Given the description of an element on the screen output the (x, y) to click on. 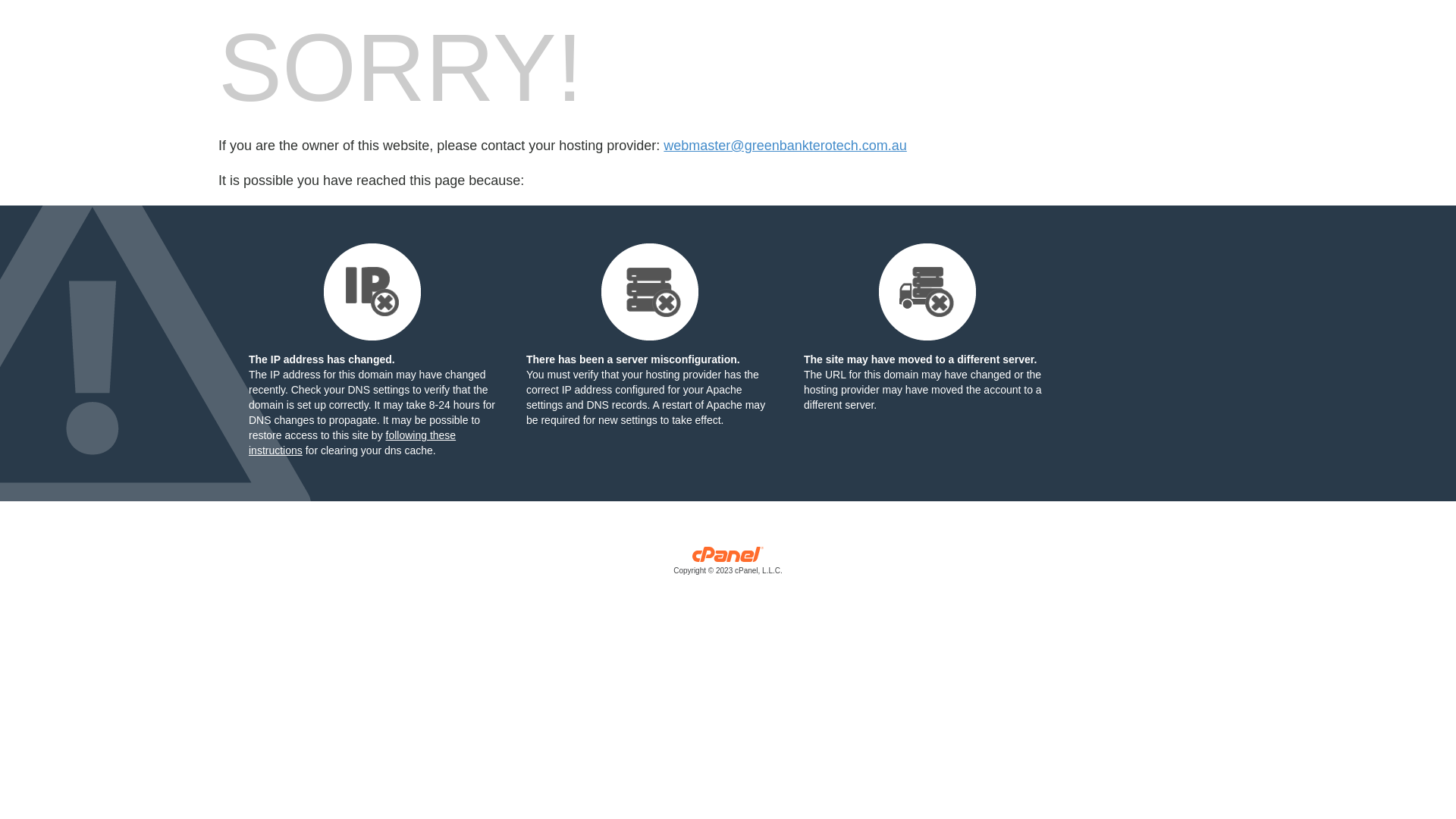
following these instructions Element type: text (351, 442)
webmaster@greenbankterotech.com.au Element type: text (784, 145)
